Given the description of an element on the screen output the (x, y) to click on. 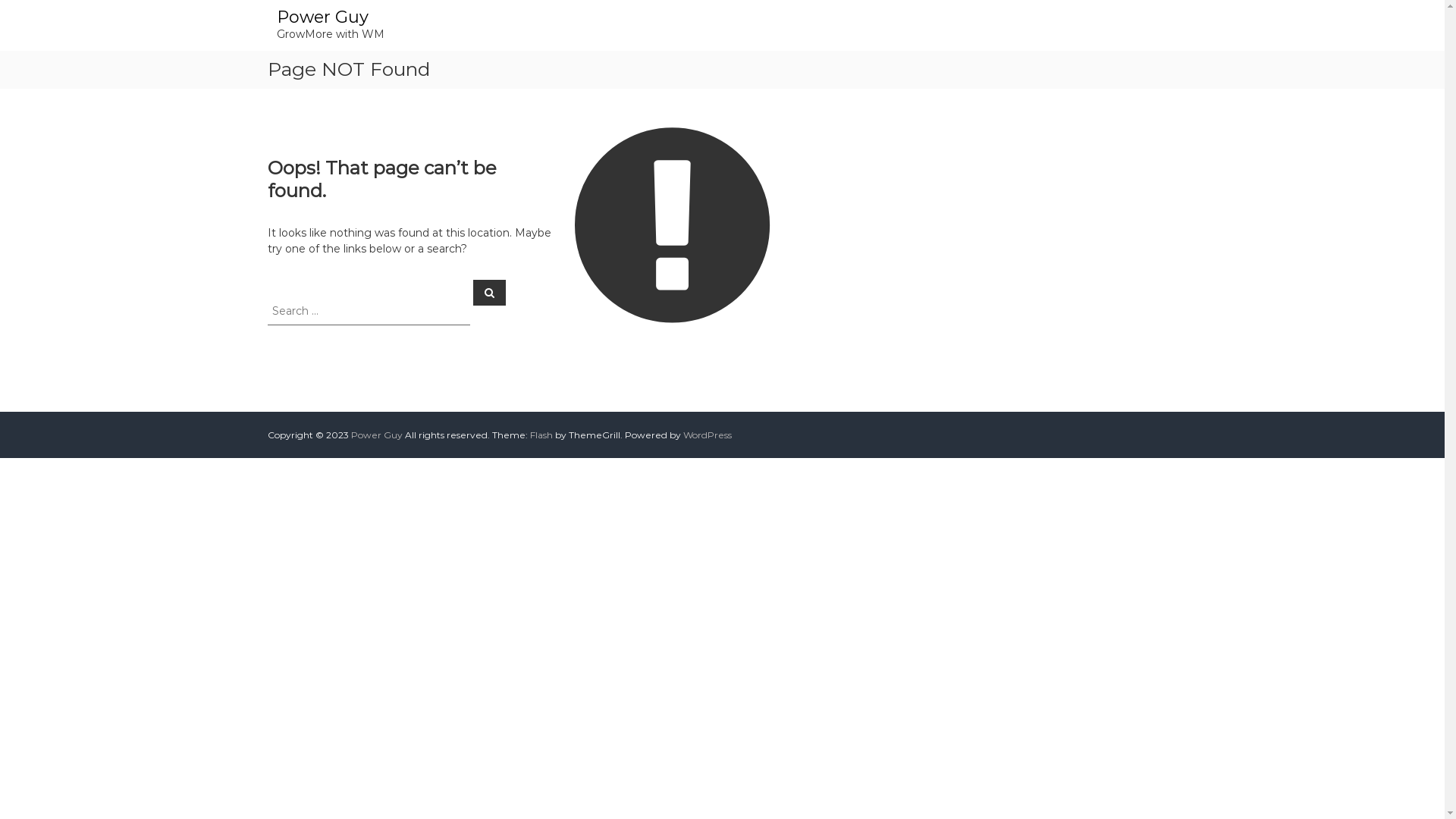
Flash Element type: text (540, 434)
Power Guy Element type: text (375, 434)
Search Element type: text (489, 291)
Power Guy Element type: text (321, 16)
WordPress Element type: text (706, 434)
